Given the description of an element on the screen output the (x, y) to click on. 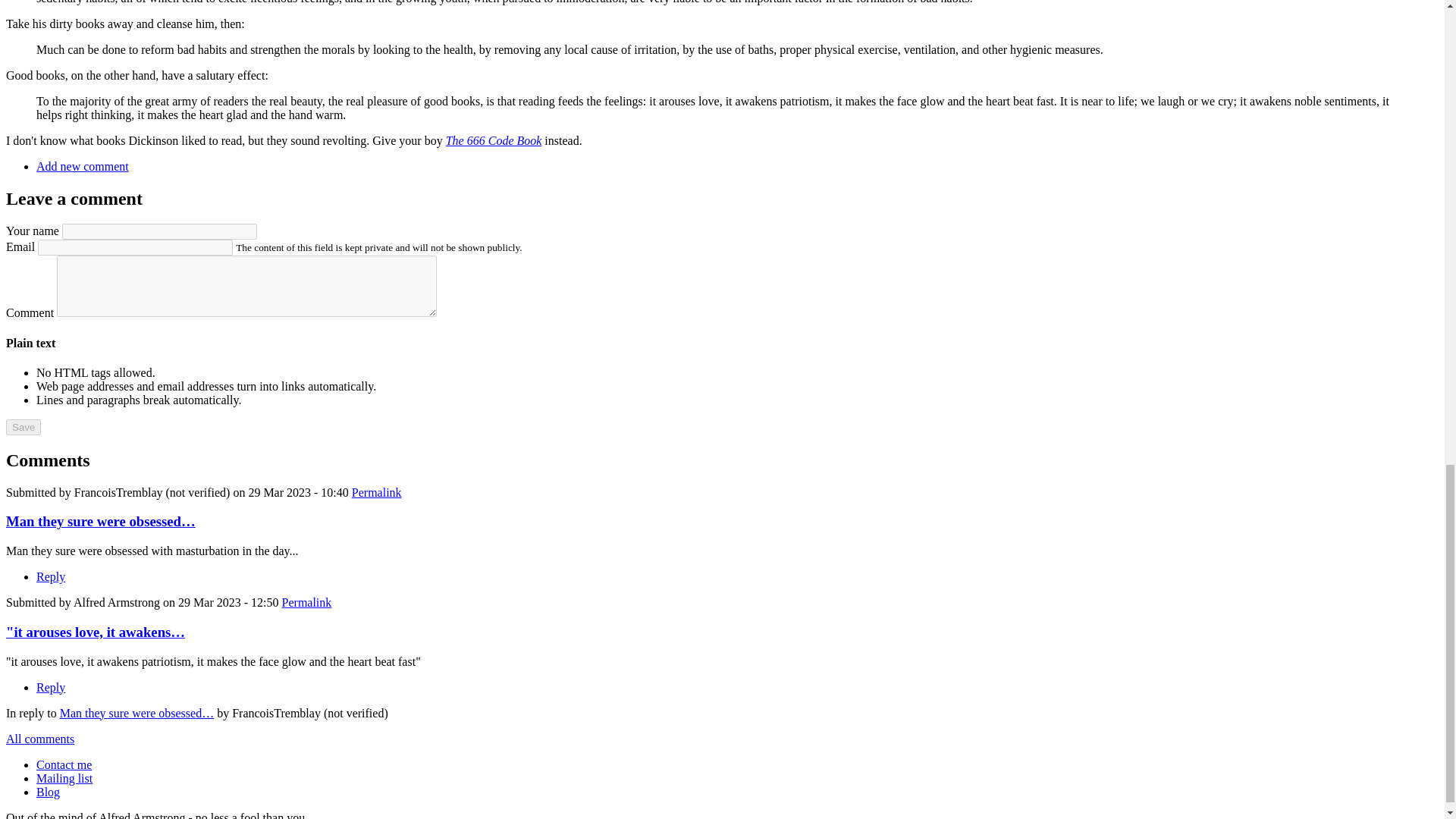
Permalink (306, 602)
The 666 Code Book (493, 140)
Blog (47, 791)
Share your thoughts and opinions. (82, 165)
Reply (50, 686)
All comments (39, 738)
Mailing list (64, 778)
Add new comment (82, 165)
Reply (50, 576)
Save (22, 426)
